Given the description of an element on the screen output the (x, y) to click on. 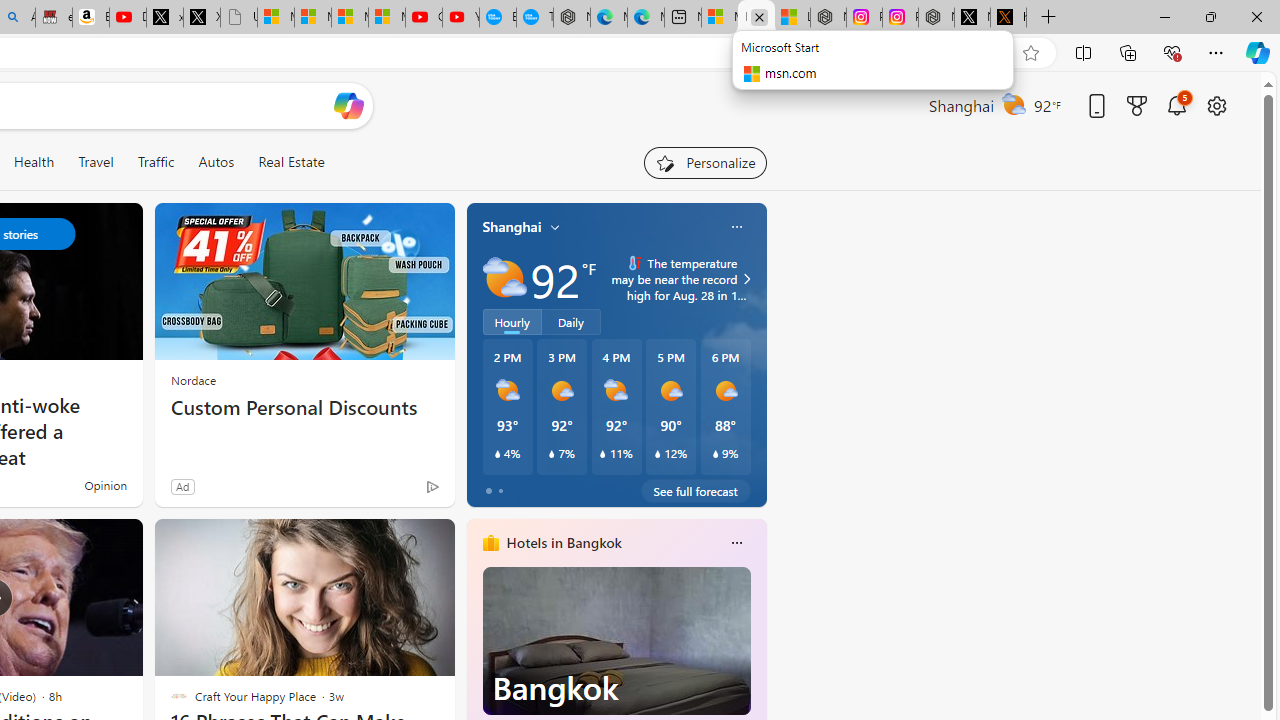
hotels-header-icon (490, 542)
Untitled (239, 17)
Traffic (155, 162)
Health (34, 161)
previous (476, 670)
Microsoft account | Microsoft Account Privacy Settings (719, 17)
